Given the description of an element on the screen output the (x, y) to click on. 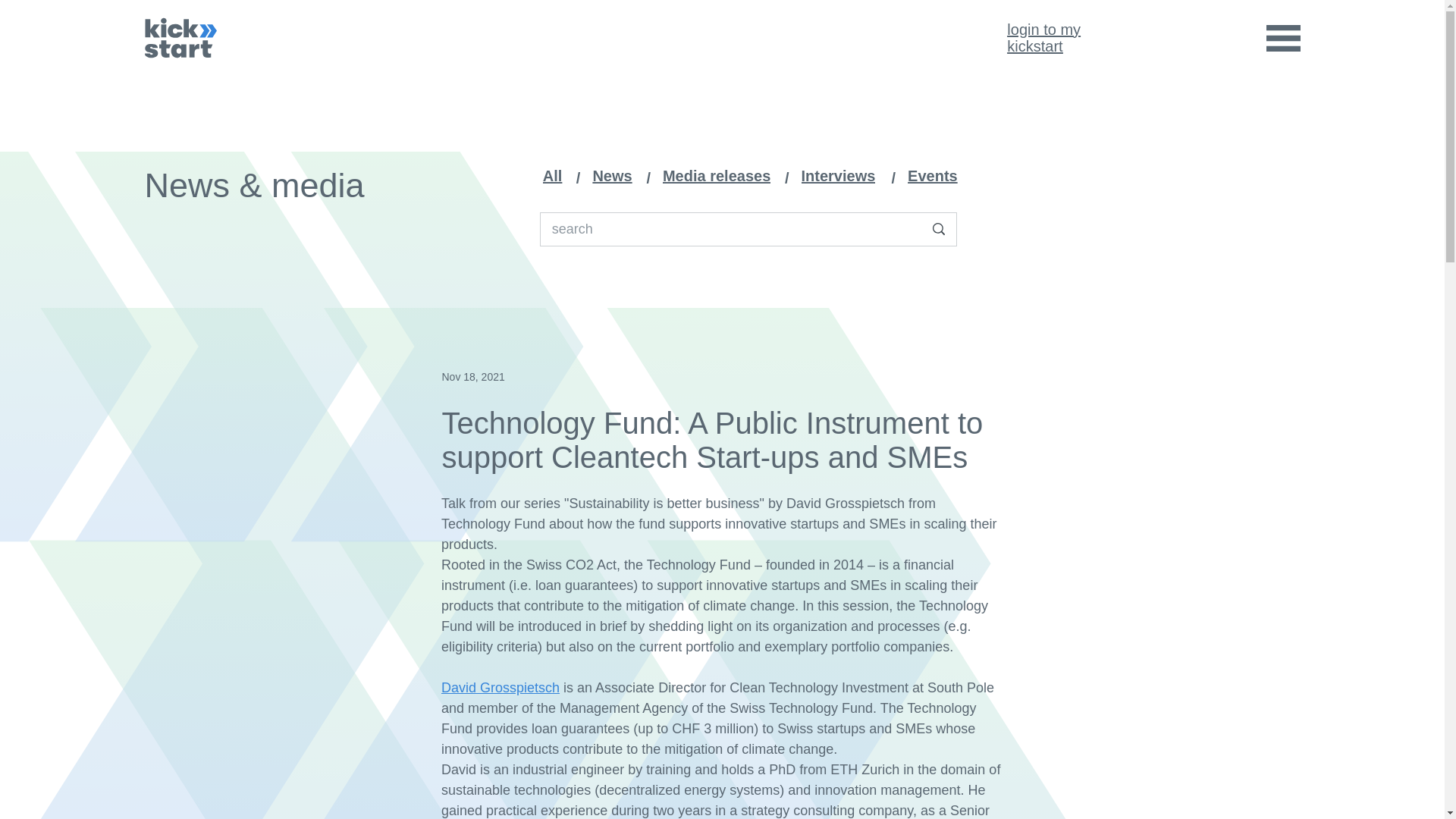
Nov 18, 2021 (472, 376)
David Grosspietsch (500, 687)
Media releases (719, 176)
News (1043, 37)
Interviews (615, 176)
All (842, 176)
Events (556, 176)
